Given the description of an element on the screen output the (x, y) to click on. 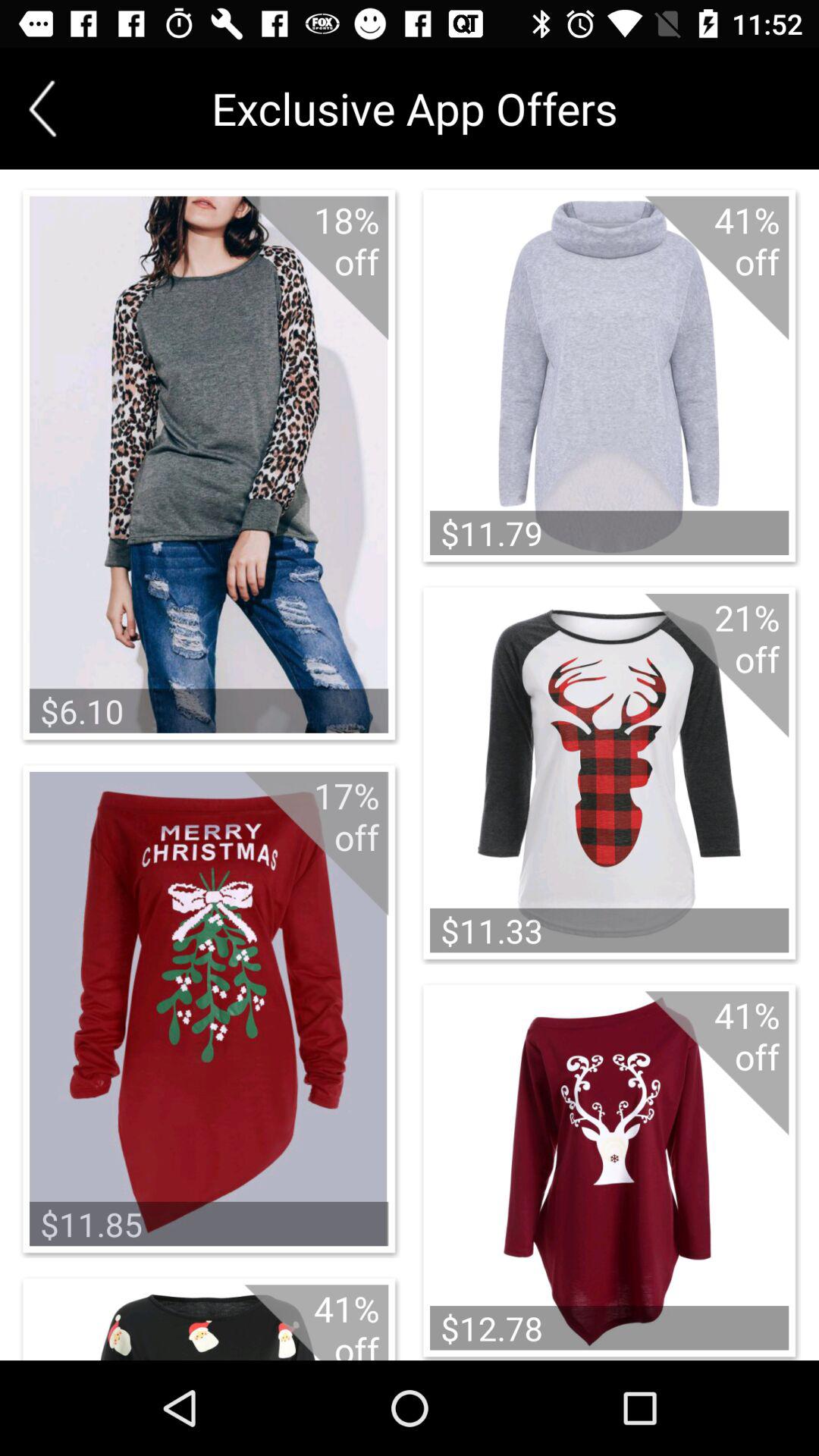
go back (42, 108)
